Given the description of an element on the screen output the (x, y) to click on. 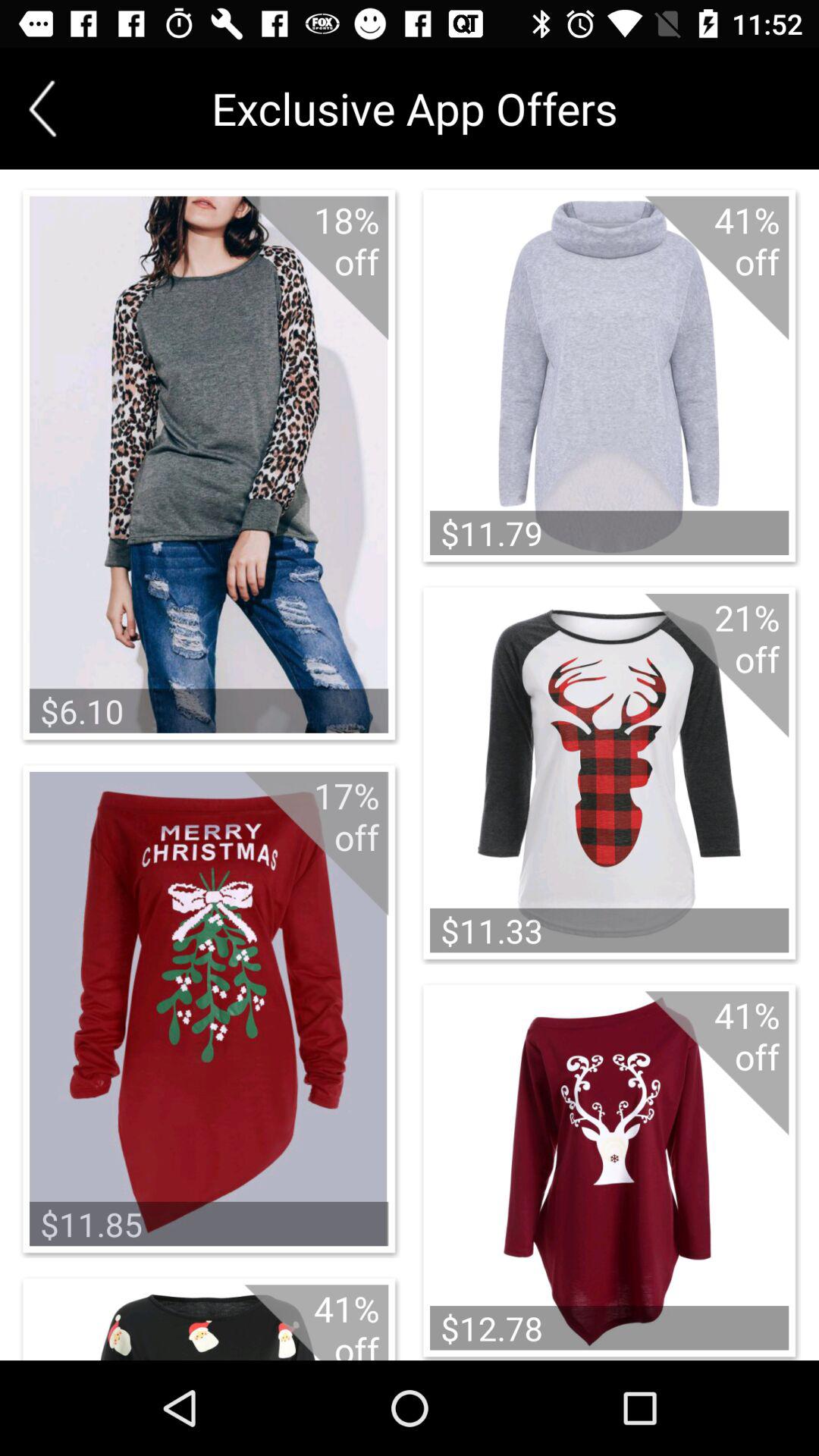
go back (42, 108)
